Given the description of an element on the screen output the (x, y) to click on. 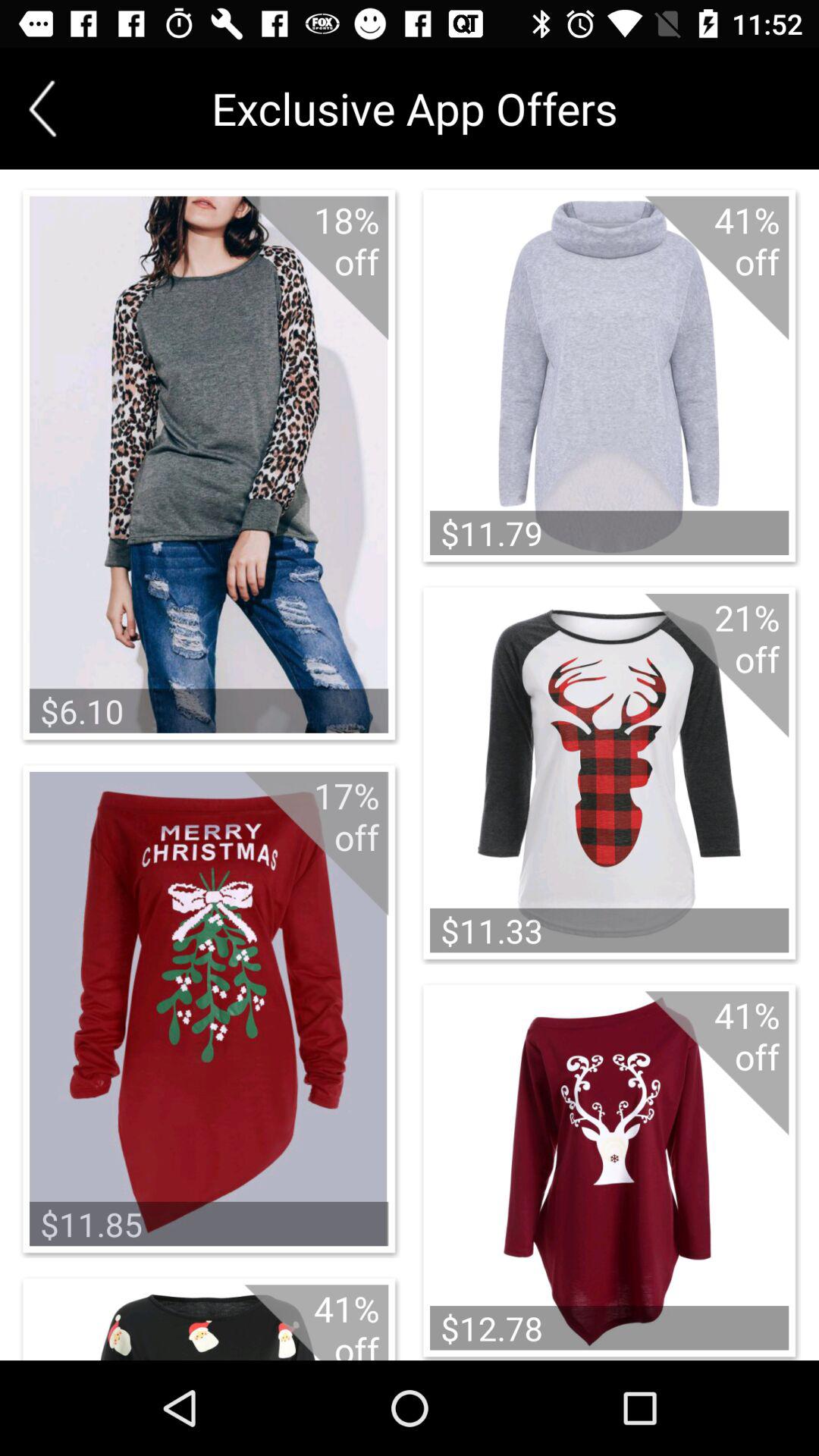
go back (42, 108)
